Given the description of an element on the screen output the (x, y) to click on. 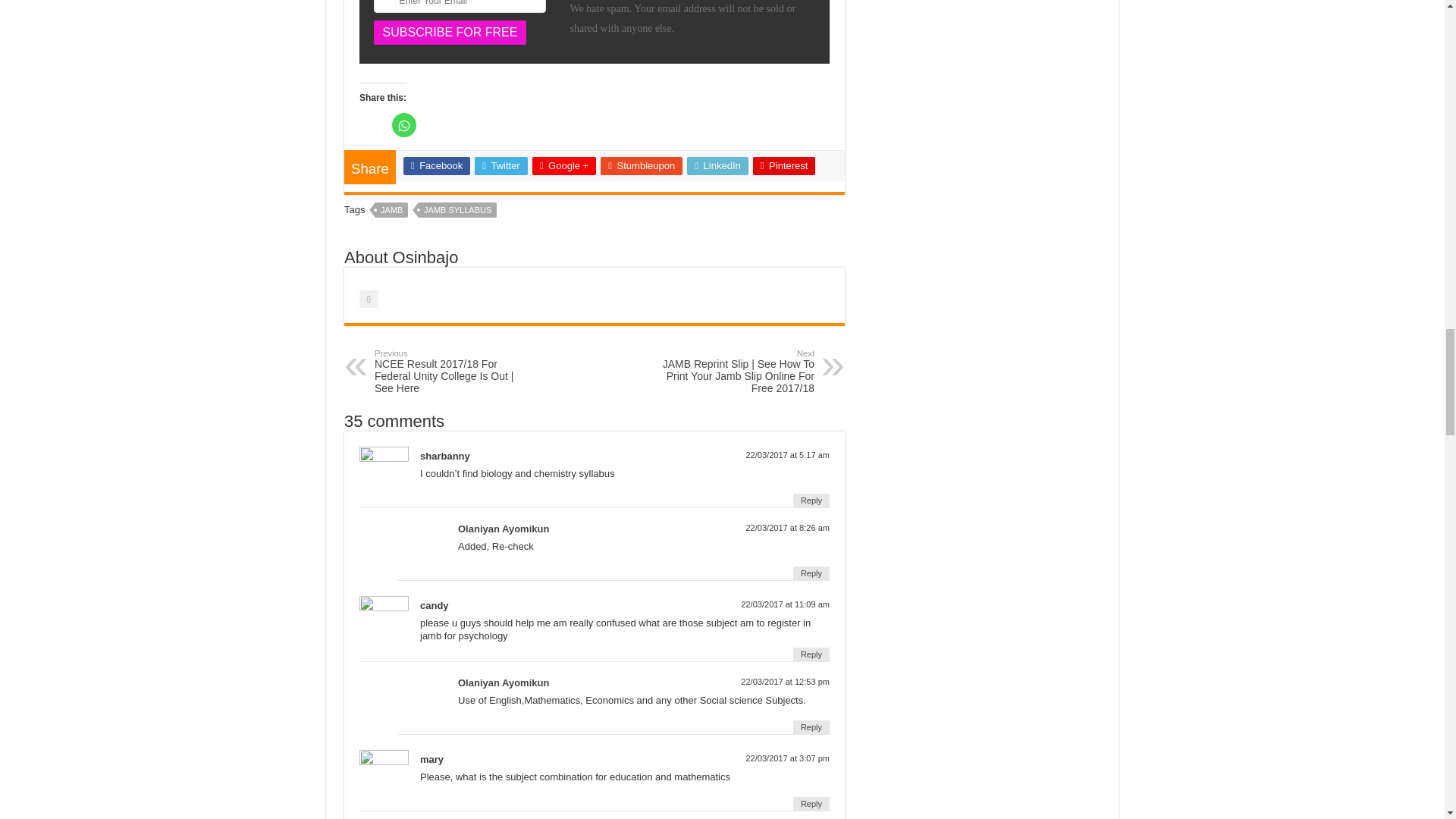
SUBSCRIBE FOR FREE (450, 32)
